Given the description of an element on the screen output the (x, y) to click on. 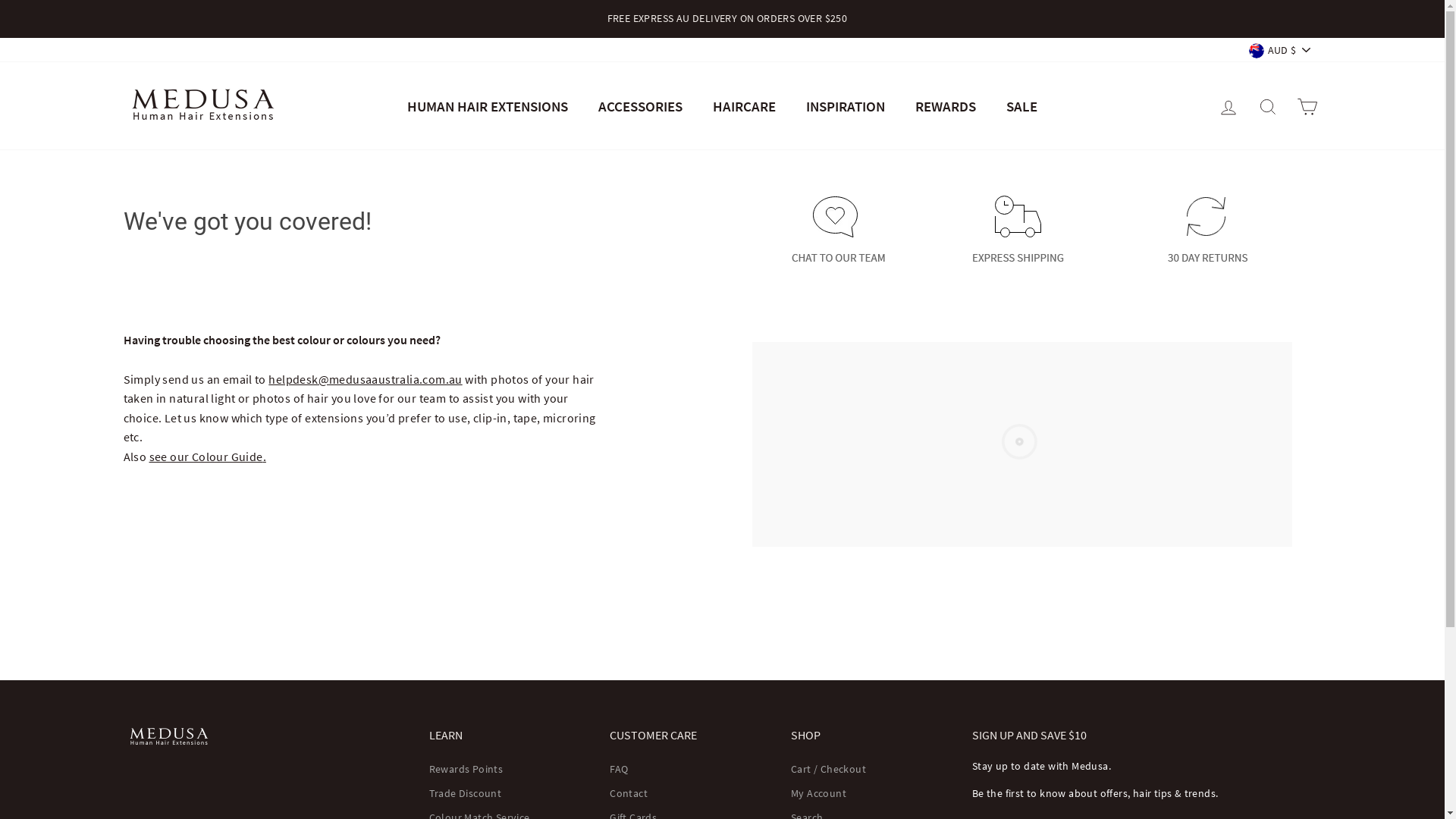
Rewards Points Element type: text (466, 769)
SALE Element type: text (1021, 105)
AUD $ Element type: text (1280, 49)
Contact Element type: text (628, 793)
ACCESSORIES Element type: text (640, 105)
Skip to content Element type: text (0, 0)
HUMAN HAIR EXTENSIONS Element type: text (487, 105)
SEARCH Element type: text (1267, 105)
HAIRCARE Element type: text (743, 105)
My Account Element type: text (818, 793)
Trade Discount Element type: text (465, 793)
LOG IN Element type: text (1228, 105)
FAQ Element type: text (618, 769)
CART Element type: text (1307, 105)
helpdesk@medusaaustralia.com.au Element type: text (364, 378)
see our Colour Guide Element type: text (205, 456)
INSPIRATION Element type: text (845, 105)
Cart / Checkout Element type: text (828, 769)
REWARDS Element type: text (945, 105)
